Given the description of an element on the screen output the (x, y) to click on. 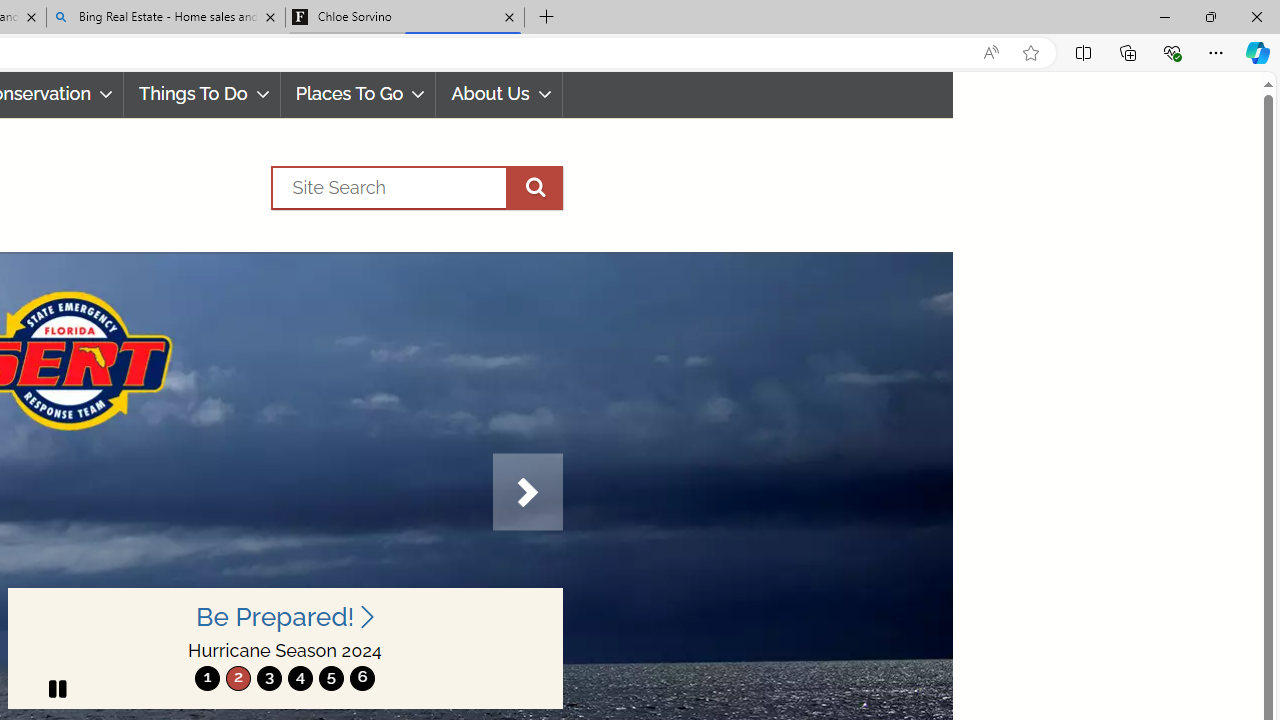
Things To Do (202, 94)
slider pause button (56, 688)
6 (362, 678)
move to slide 5 (331, 678)
Chloe Sorvino (404, 17)
execute site search (534, 187)
1 (207, 678)
Places To Go (358, 94)
About Us (498, 94)
5 (331, 678)
Next (527, 491)
